Given the description of an element on the screen output the (x, y) to click on. 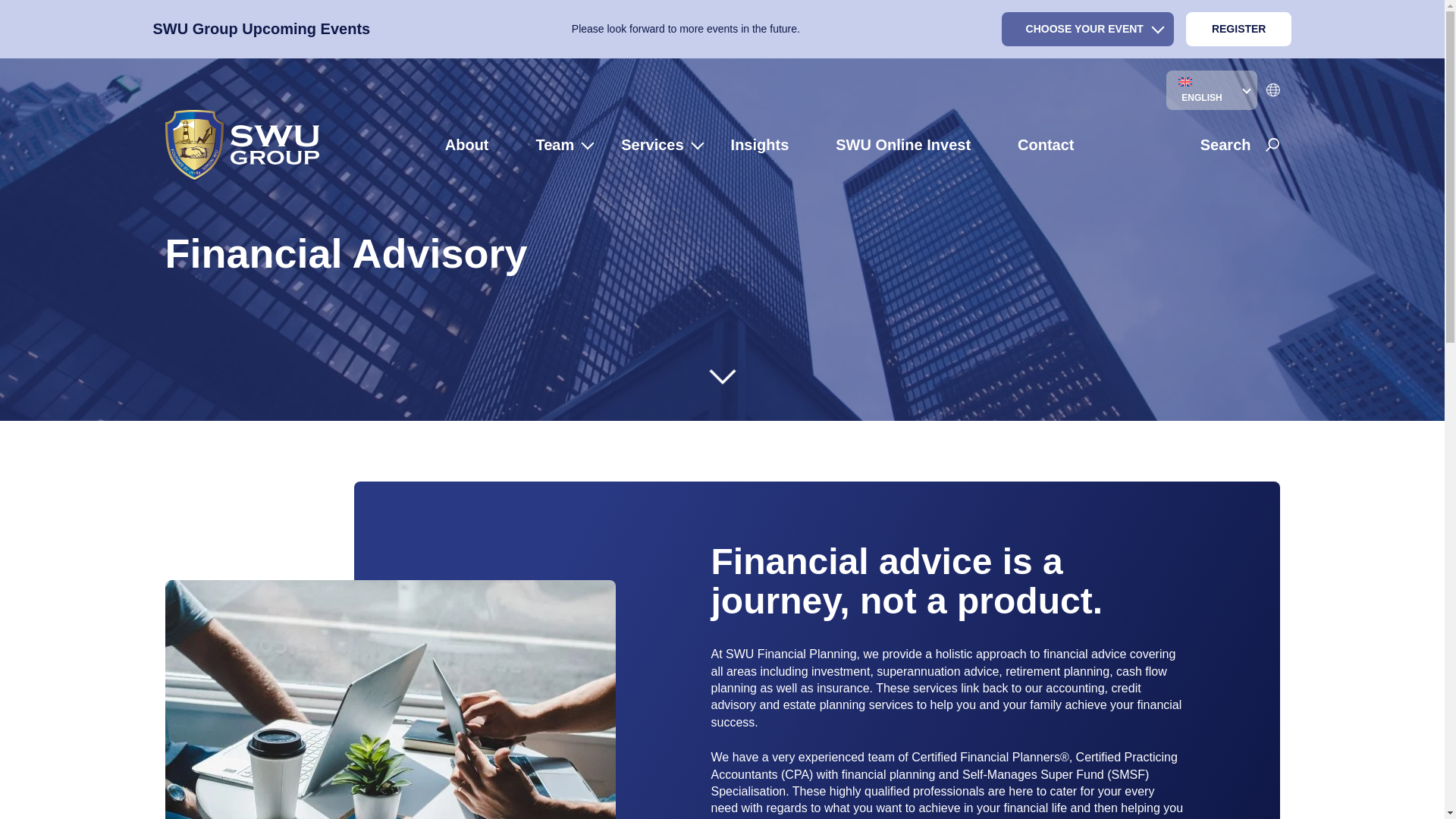
Search (1239, 144)
About (475, 144)
ENGLISH (1211, 89)
Insights (769, 144)
Open Search (1239, 144)
REGISTER (1239, 28)
SWU Online Invest (911, 144)
Contact (1045, 144)
Services (661, 144)
Team (563, 144)
